Given the description of an element on the screen output the (x, y) to click on. 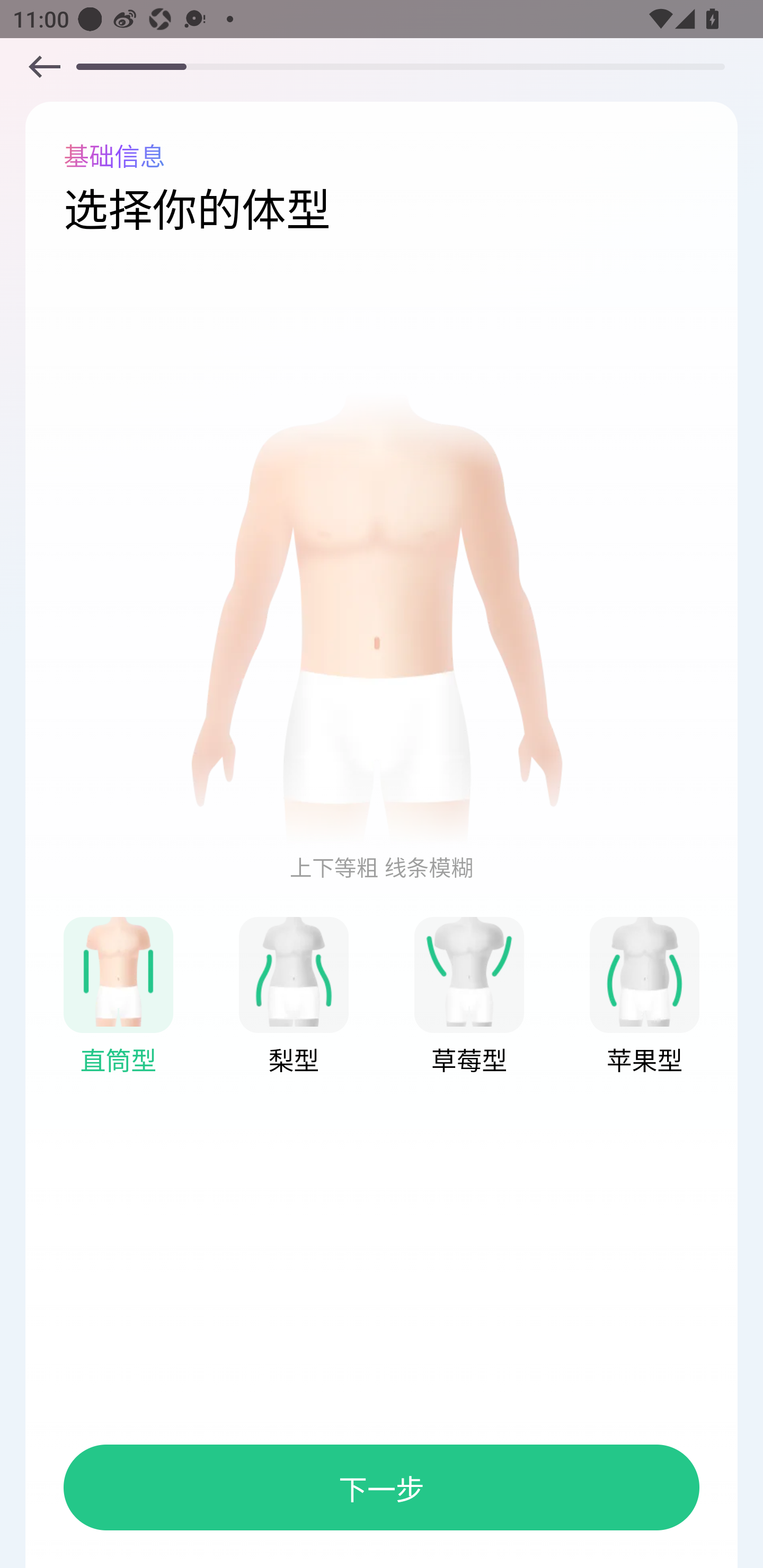
1 (44, 66)
1 (381, 618)
1   1 直筒型 (118, 996)
1 (118, 971)
1   1 梨型 (293, 996)
1 (293, 971)
1   1 草莓型 (468, 996)
1 (468, 971)
1   1 苹果型 (644, 996)
1 (644, 971)
下一步 (381, 1487)
